Given the description of an element on the screen output the (x, y) to click on. 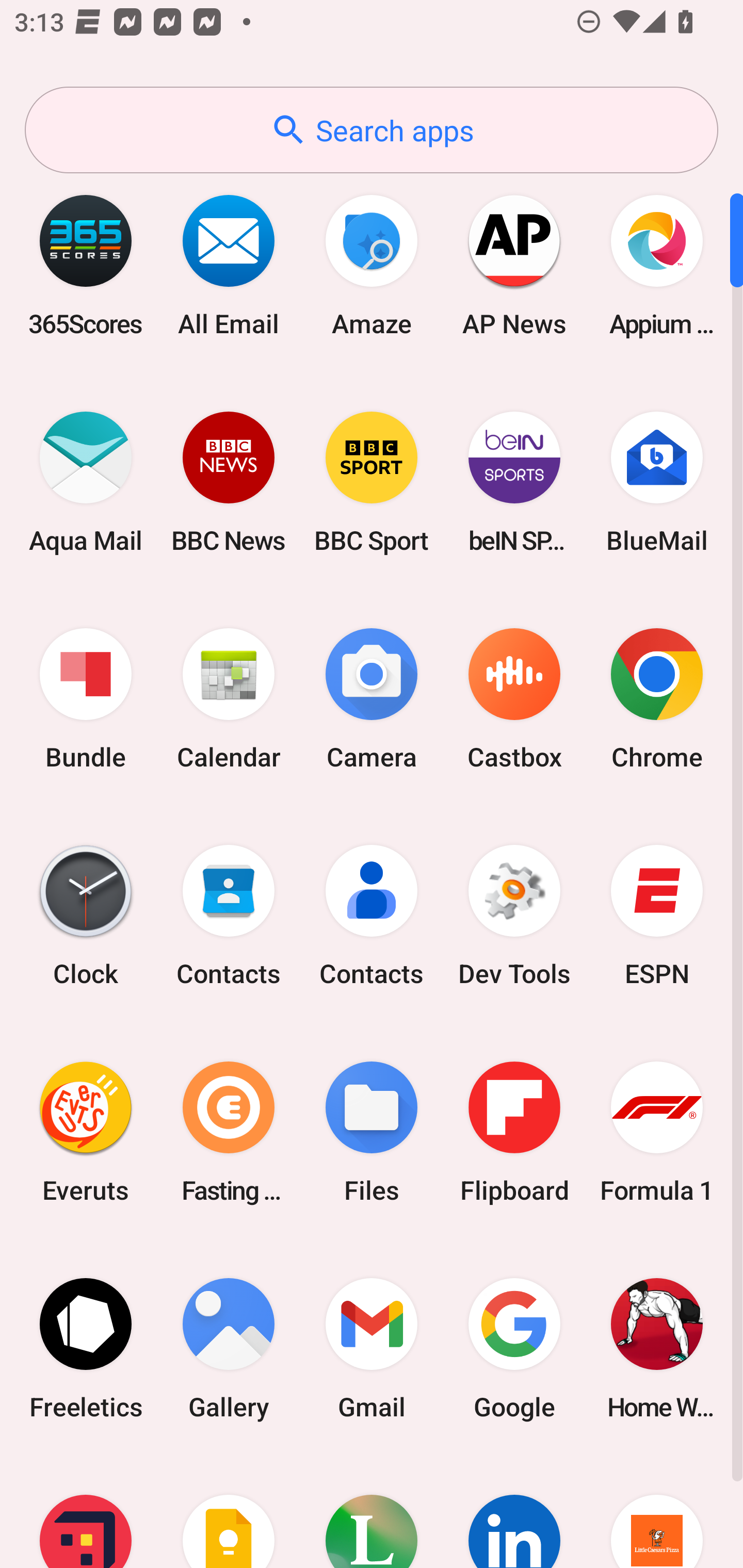
  Search apps (371, 130)
365Scores (85, 264)
All Email (228, 264)
Amaze (371, 264)
AP News (514, 264)
Appium Settings (656, 264)
Aqua Mail (85, 482)
BBC News (228, 482)
BBC Sport (371, 482)
beIN SPORTS (514, 482)
BlueMail (656, 482)
Bundle (85, 699)
Calendar (228, 699)
Camera (371, 699)
Castbox (514, 699)
Chrome (656, 699)
Clock (85, 915)
Contacts (228, 915)
Contacts (371, 915)
Dev Tools (514, 915)
ESPN (656, 915)
Everuts (85, 1131)
Fasting Coach (228, 1131)
Files (371, 1131)
Flipboard (514, 1131)
Formula 1 (656, 1131)
Freeletics (85, 1348)
Gallery (228, 1348)
Gmail (371, 1348)
Google (514, 1348)
Home Workout (656, 1348)
Hotels.com (85, 1512)
Keep Notes (228, 1512)
Lifesum (371, 1512)
LinkedIn (514, 1512)
Little Caesars Pizza (656, 1512)
